Given the description of an element on the screen output the (x, y) to click on. 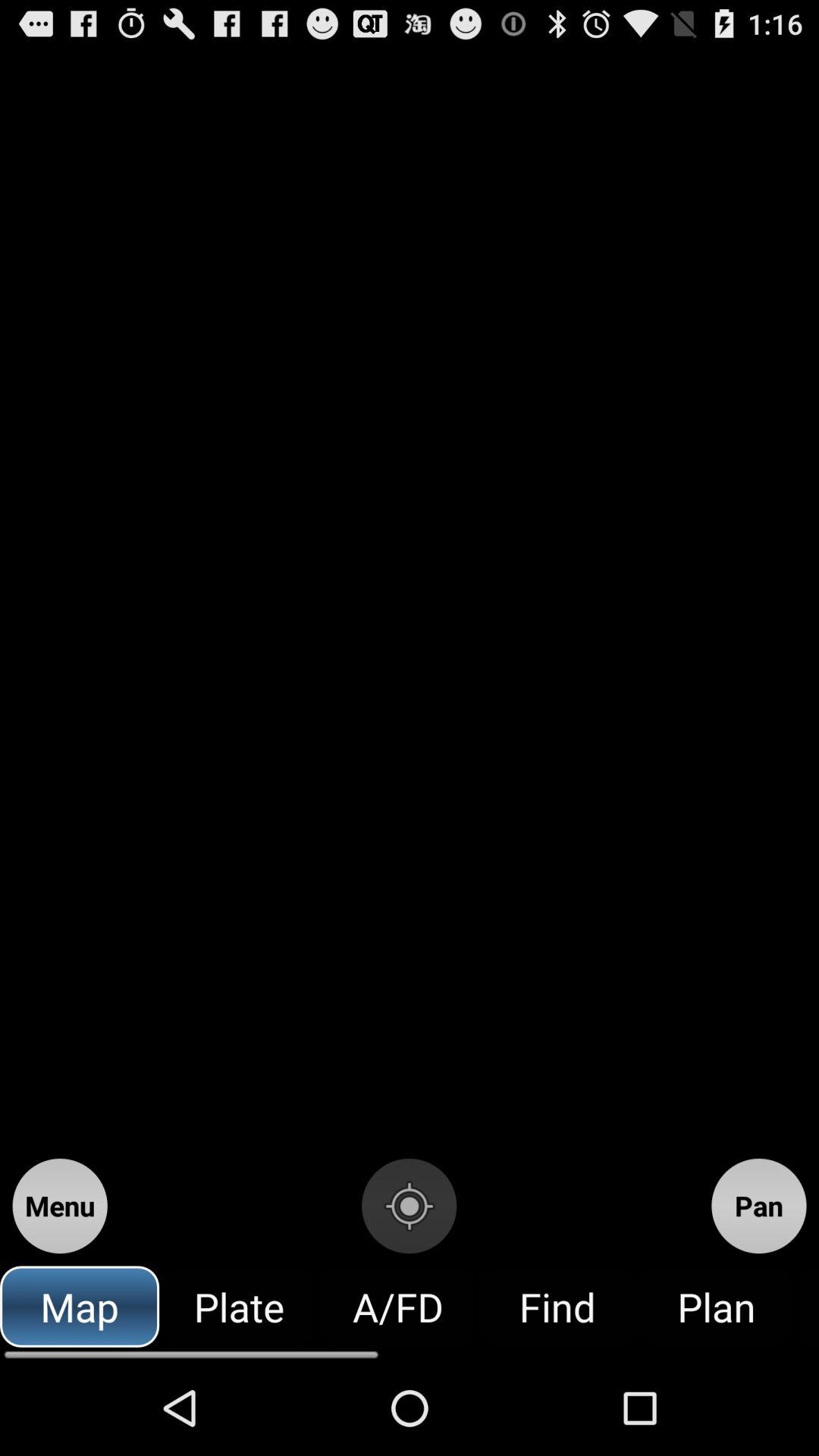
jump until menu item (59, 1205)
